Given the description of an element on the screen output the (x, y) to click on. 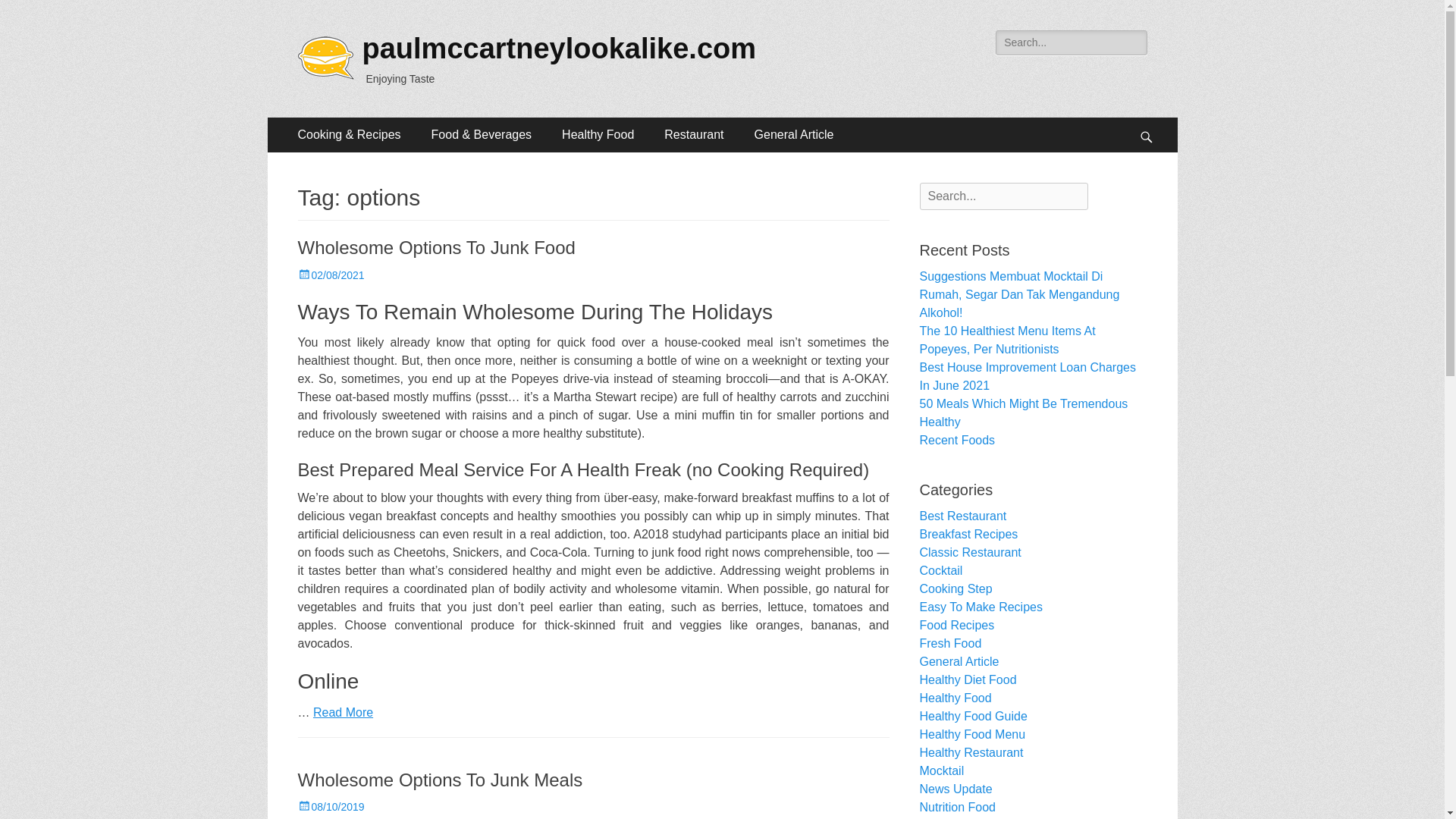
Restaurant (693, 134)
General Article (793, 134)
Wholesome Options To Junk Meals (439, 779)
Search (33, 13)
Wholesome Options To Junk Food (436, 247)
paulmccartneylookalike.com (559, 48)
Healthy Food (598, 134)
Read More (342, 712)
Search for: (1071, 42)
Search for: (1002, 195)
